Given the description of an element on the screen output the (x, y) to click on. 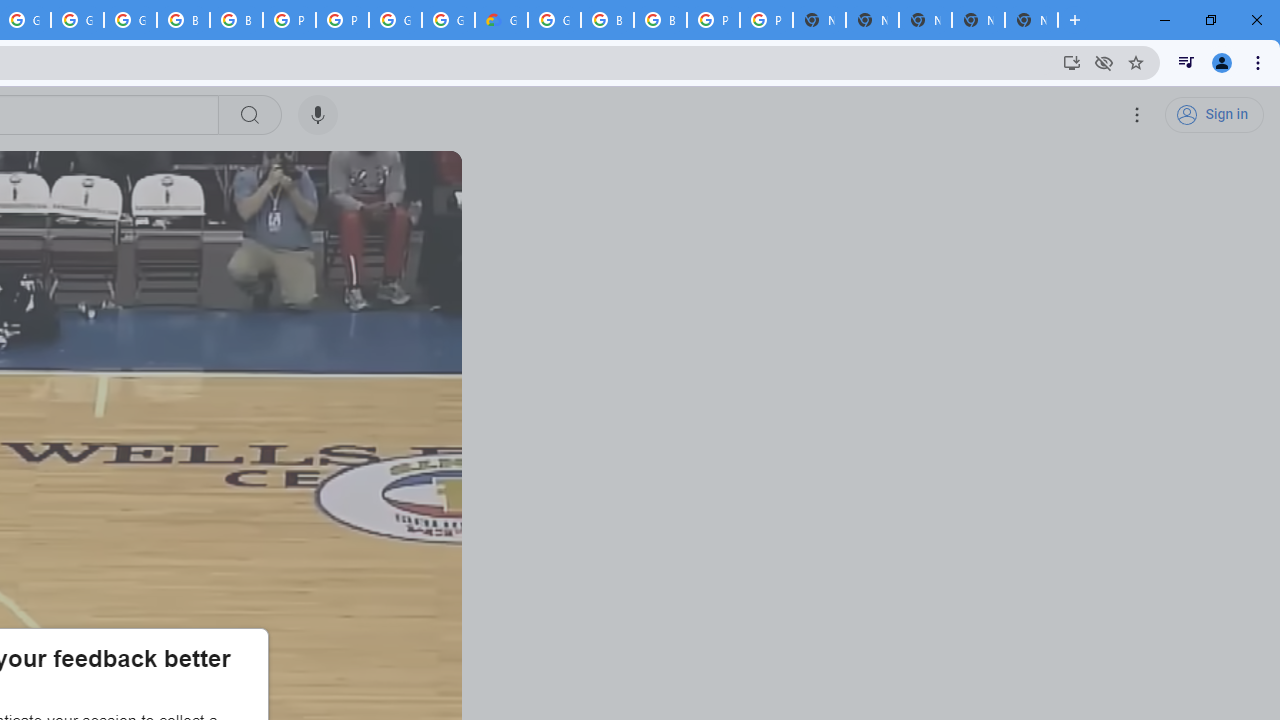
Google Cloud Platform (448, 20)
Browse Chrome as a guest - Computer - Google Chrome Help (235, 20)
Browse Chrome as a guest - Computer - Google Chrome Help (607, 20)
Browse Chrome as a guest - Computer - Google Chrome Help (183, 20)
Google Cloud Estimate Summary (501, 20)
